Given the description of an element on the screen output the (x, y) to click on. 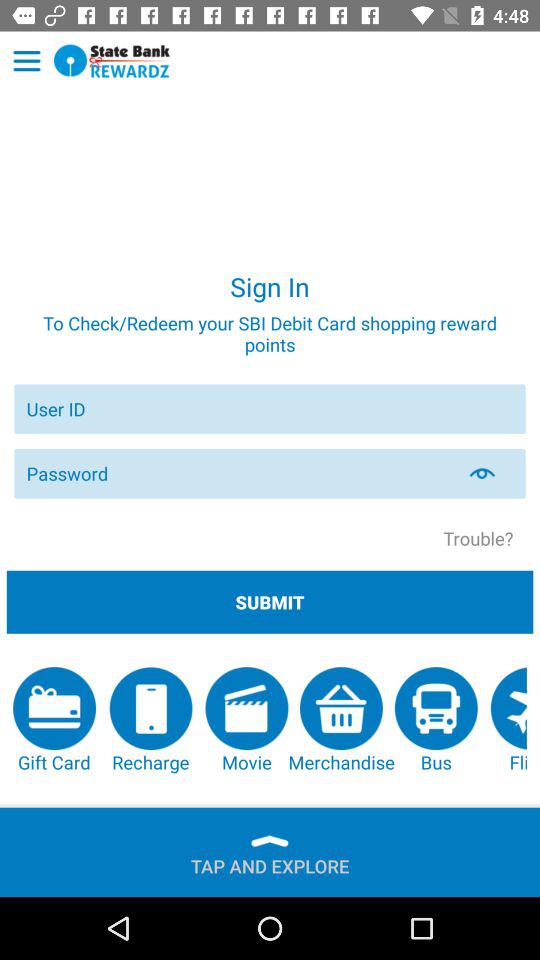
open menu (26, 61)
